Given the description of an element on the screen output the (x, y) to click on. 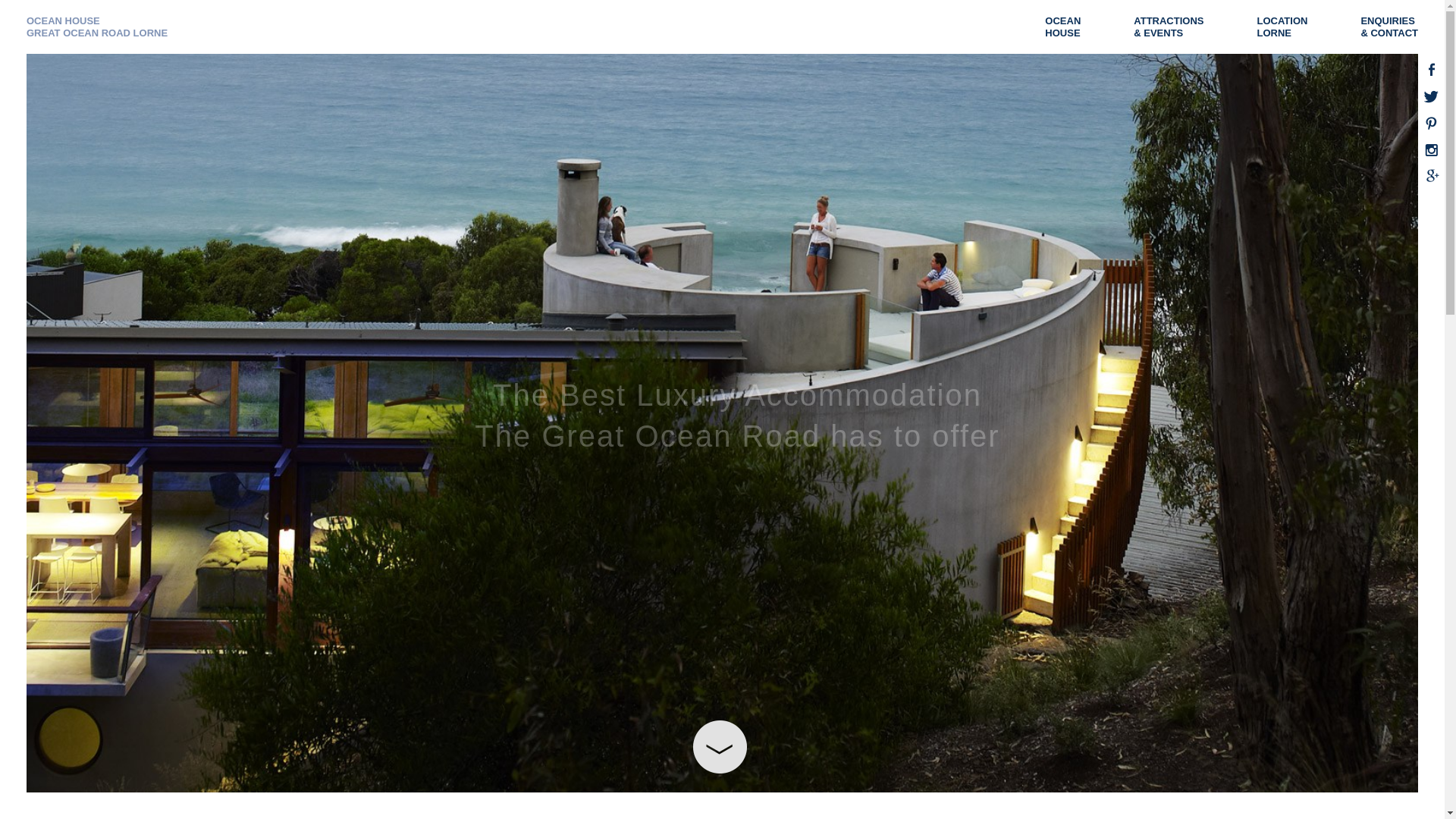
ENQUIRIES
& CONTACT Element type: text (1396, 26)
OCEAN HOUSE
GREAT OCEAN ROAD LORNE Element type: text (96, 26)
LOCATION
LORNE Element type: text (1289, 26)
ATTRACTIONS
& EVENTS Element type: text (1175, 26)
OCEAN
HOUSE Element type: text (1069, 26)
